Given the description of an element on the screen output the (x, y) to click on. 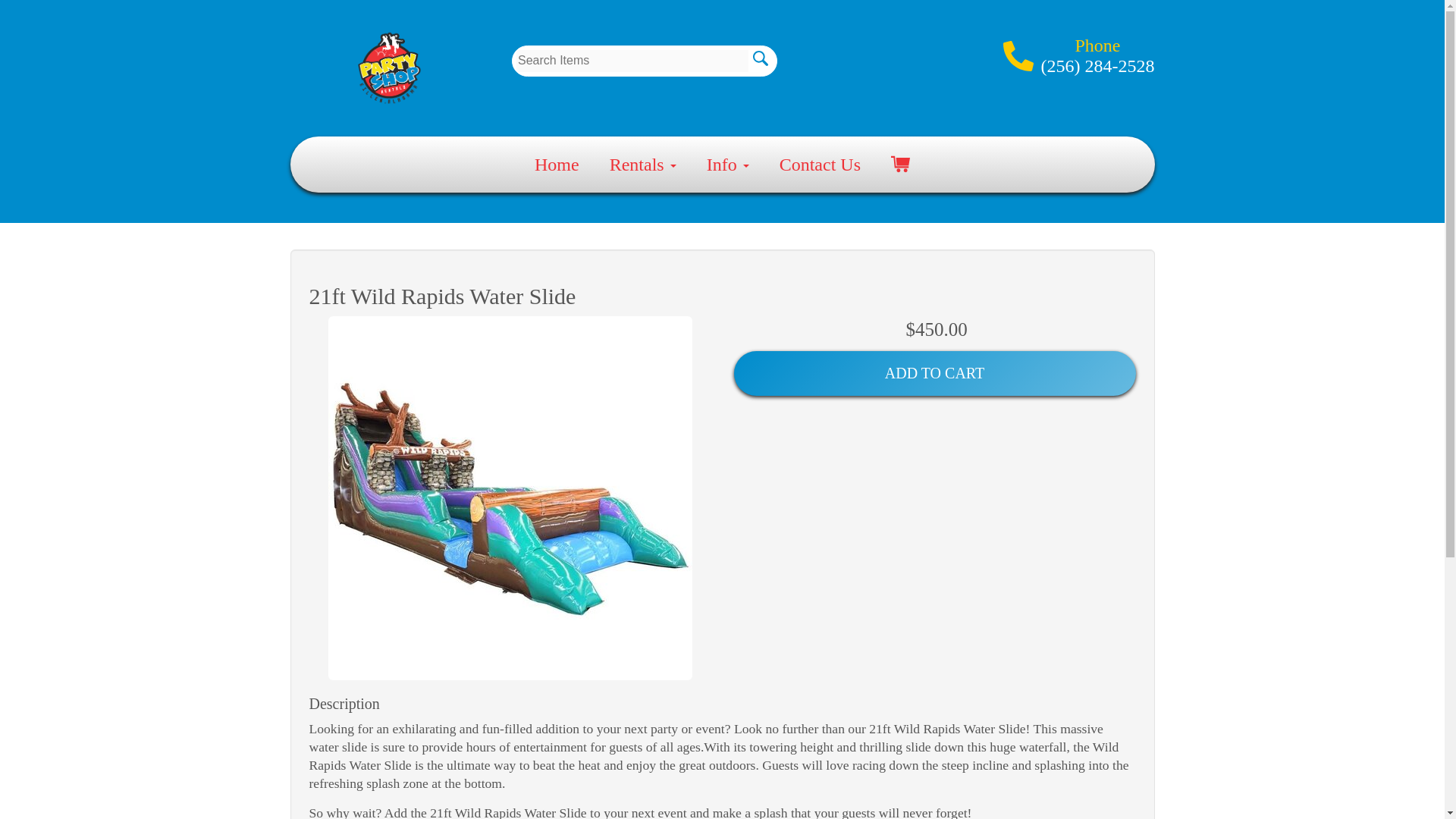
Contact Us (819, 164)
Rentals (643, 164)
Info (727, 164)
Party Shop Rentals (390, 68)
Home (556, 164)
21ft Wild Rapids Water Slide (509, 498)
